Given the description of an element on the screen output the (x, y) to click on. 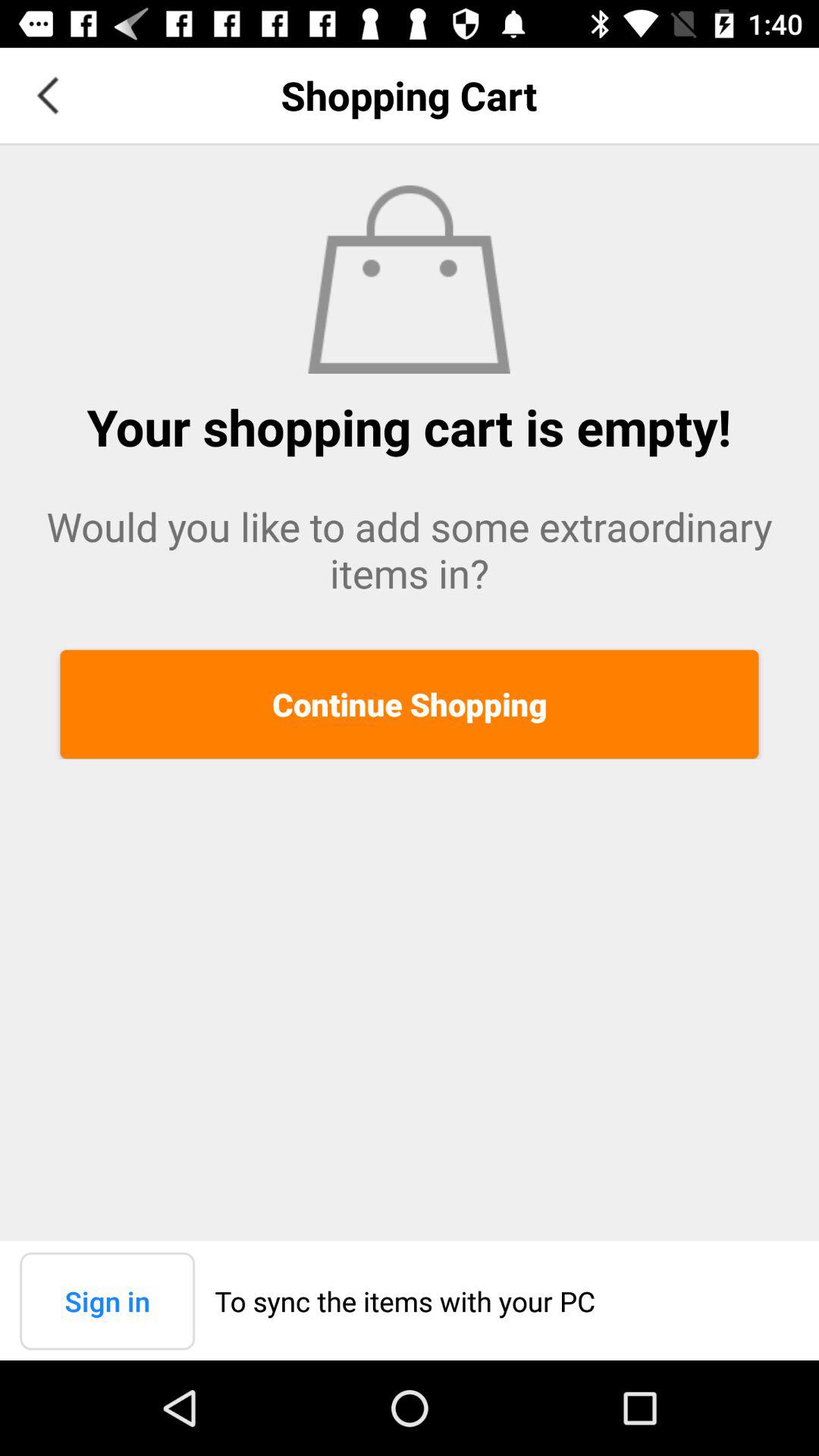
press the sign in (107, 1301)
